Given the description of an element on the screen output the (x, y) to click on. 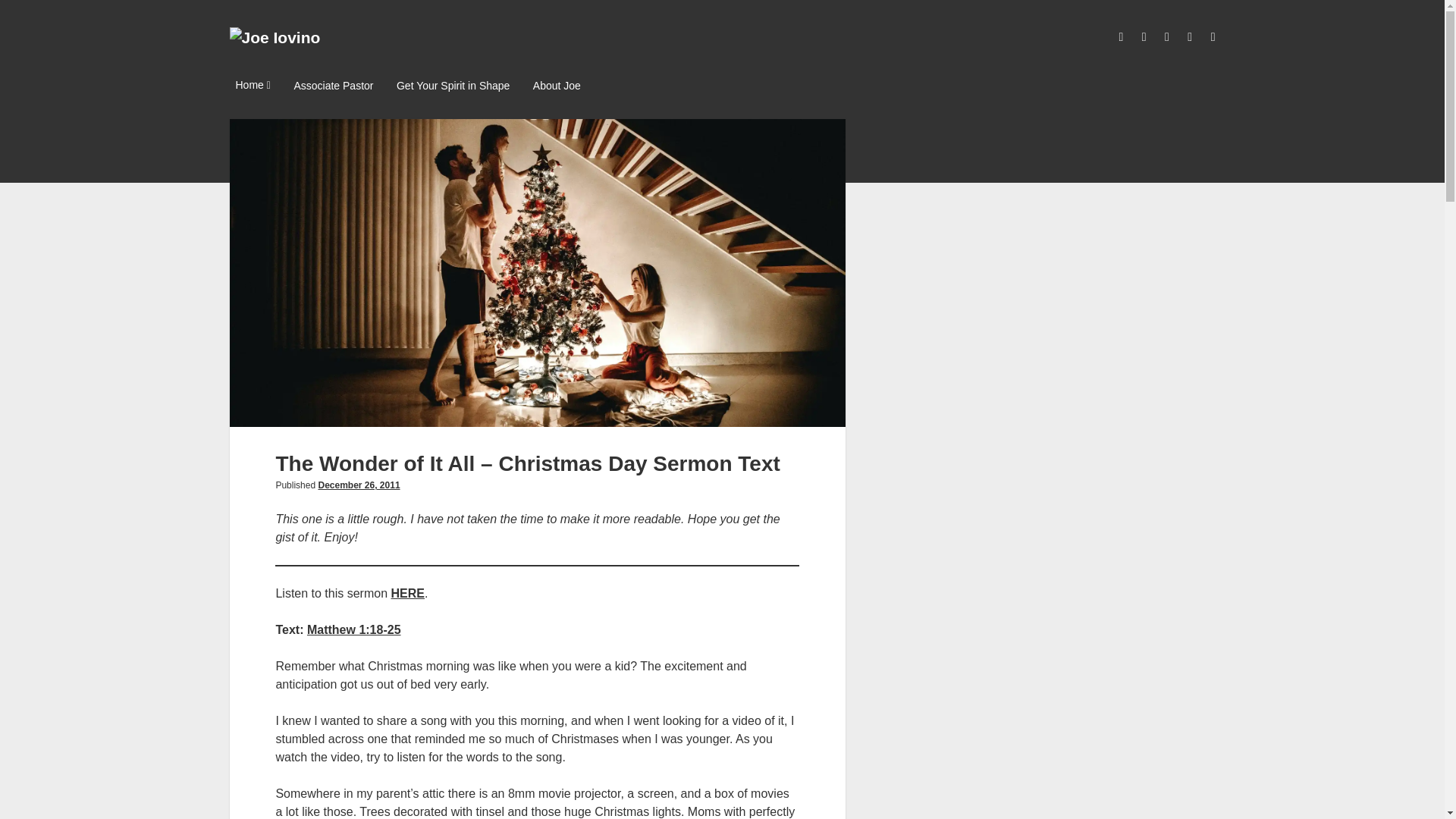
About Joe (556, 85)
December 26, 2011 (357, 484)
New Revised Standard Version (354, 629)
Get Your Spirit in Shape (452, 85)
Tri-Lakes United Methodist Church sermon podcast page (408, 593)
Associate Pastor (332, 85)
HERE (408, 593)
Matthew 1:18-25 (354, 629)
Joe Iovino (274, 36)
Home (252, 86)
